Given the description of an element on the screen output the (x, y) to click on. 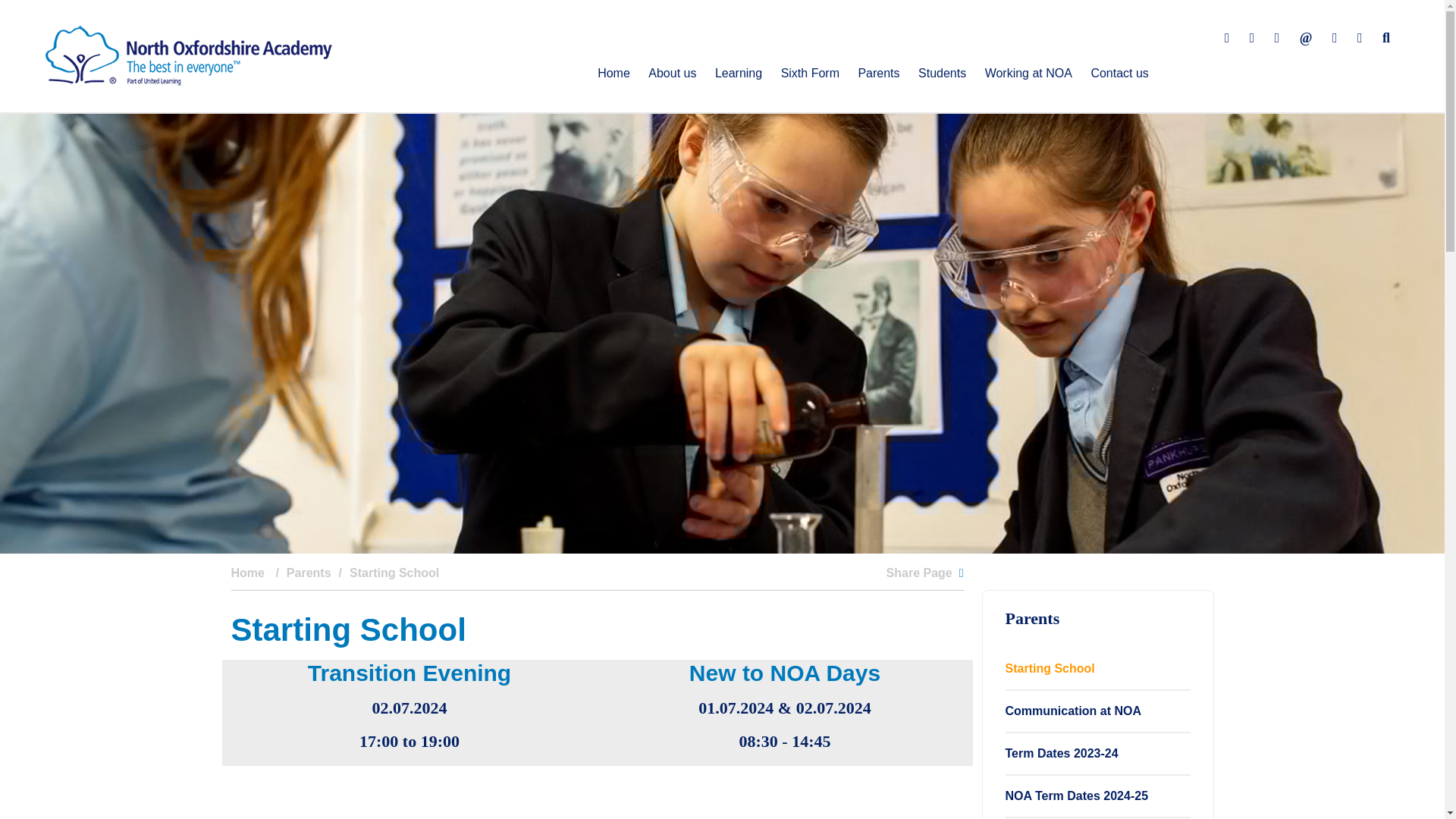
About us (671, 72)
Learning (738, 72)
Sixth Form (810, 72)
Email (1307, 37)
Home (613, 72)
Parents (878, 72)
Search (1386, 37)
North Oxfordshire Academy (188, 54)
